Given the description of an element on the screen output the (x, y) to click on. 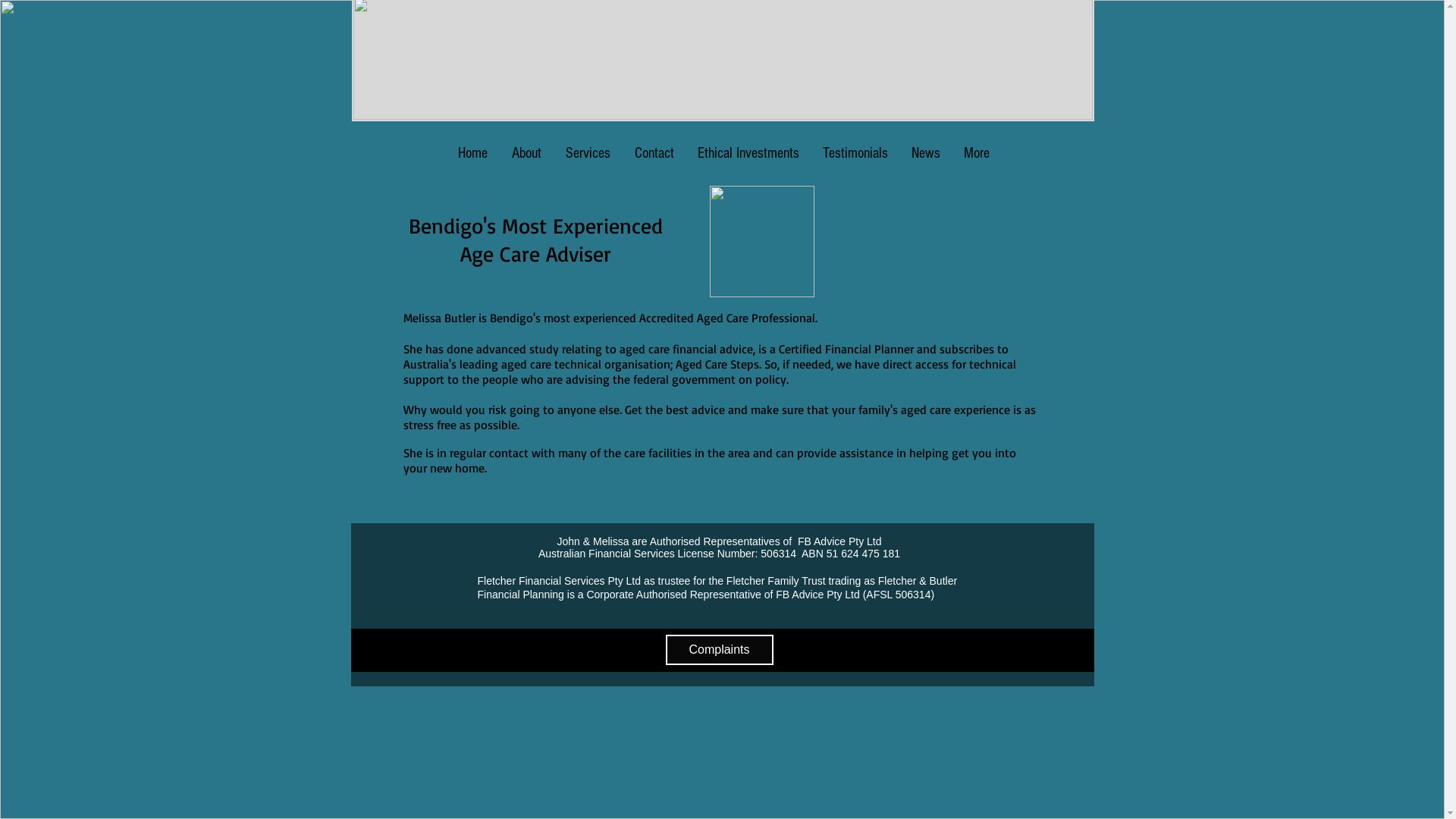
Contact Element type: text (653, 153)
Home Element type: text (472, 153)
Testimonials Element type: text (855, 153)
Services Element type: text (587, 153)
News Element type: text (925, 153)
Complaints Element type: text (719, 649)
Ethical Investments Element type: text (747, 153)
About Element type: text (525, 153)
